Given the description of an element on the screen output the (x, y) to click on. 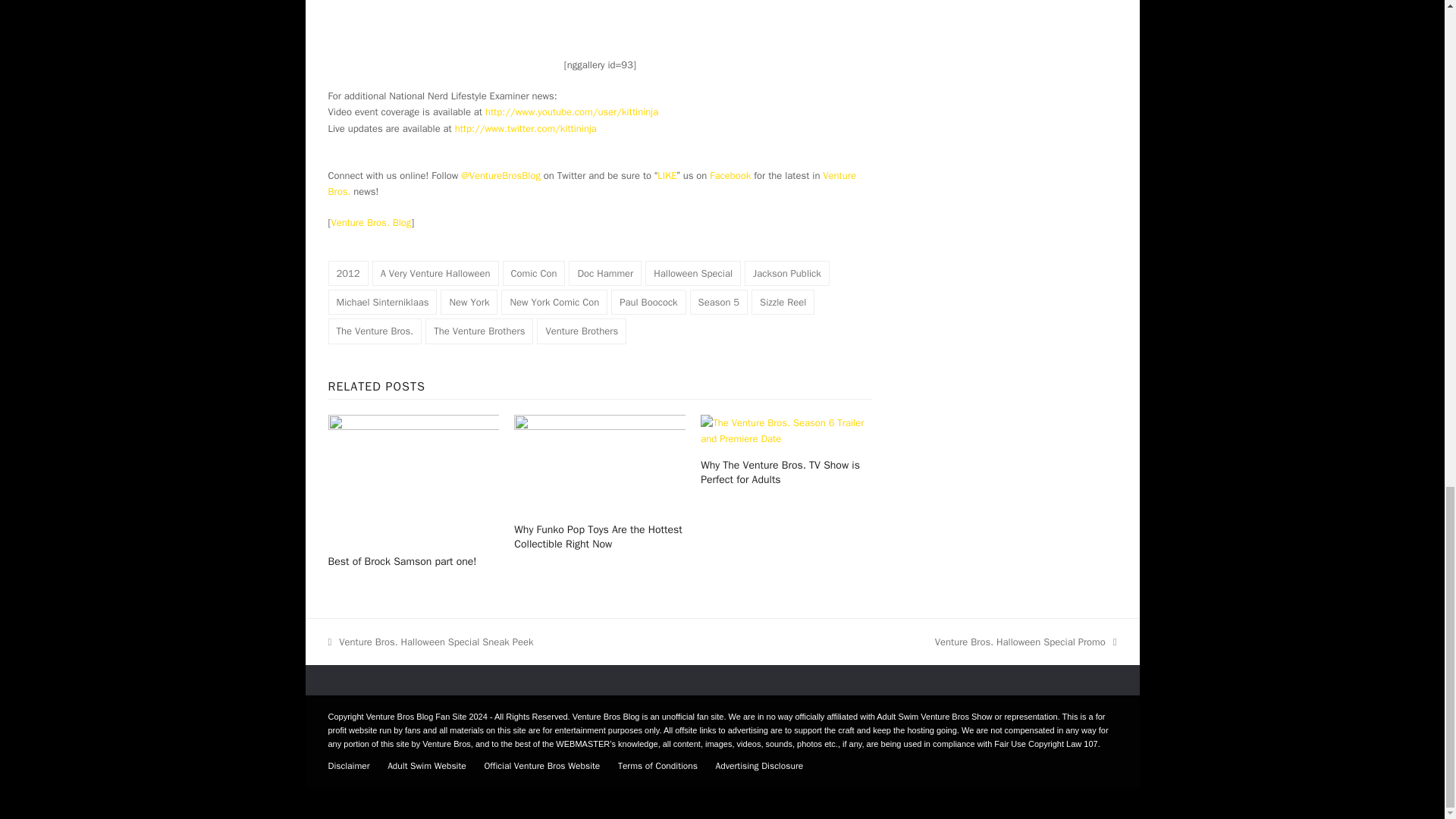
LIKE (667, 174)
Venture Bros Blog Disclaimer (348, 766)
Halloween Special (693, 273)
2012 (347, 273)
Comic Con (533, 273)
Jackson Publick (786, 273)
Best of Brock Samson part one! (413, 477)
A Very Venture Halloween (435, 273)
Venture Bros. Blog (370, 222)
Michael Sinterniklaas (381, 301)
